Given the description of an element on the screen output the (x, y) to click on. 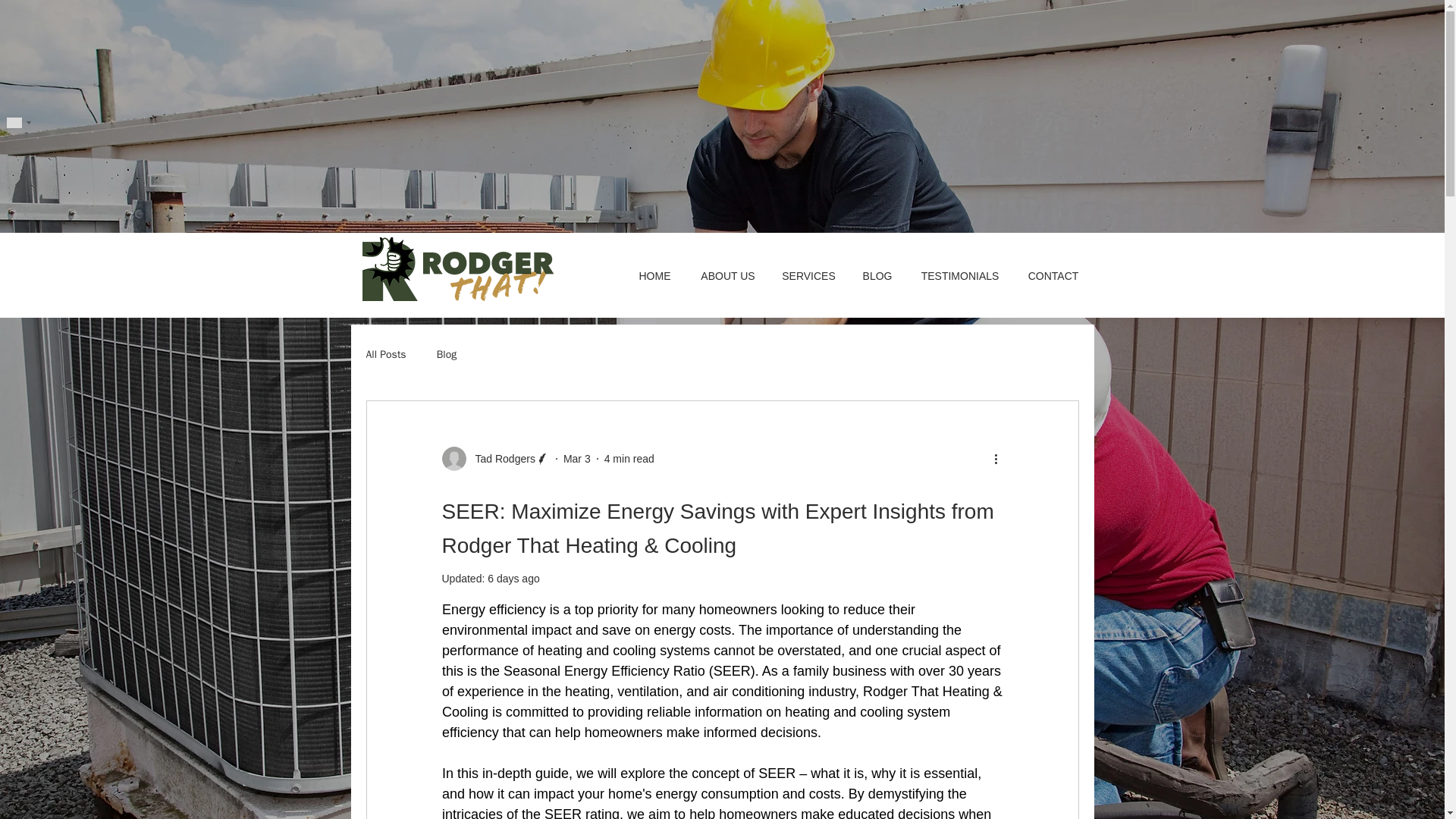
6 days ago (513, 578)
HOME (654, 275)
BLOG (877, 275)
TESTIMONIALS (959, 275)
Tad Rodgers (494, 458)
Blog (446, 354)
ABOUT US (727, 275)
All Posts (385, 354)
Tad Rodgers (499, 458)
4 min read (628, 458)
SERVICES (808, 275)
CONTACT (1053, 275)
Mar 3 (577, 458)
